Given the description of an element on the screen output the (x, y) to click on. 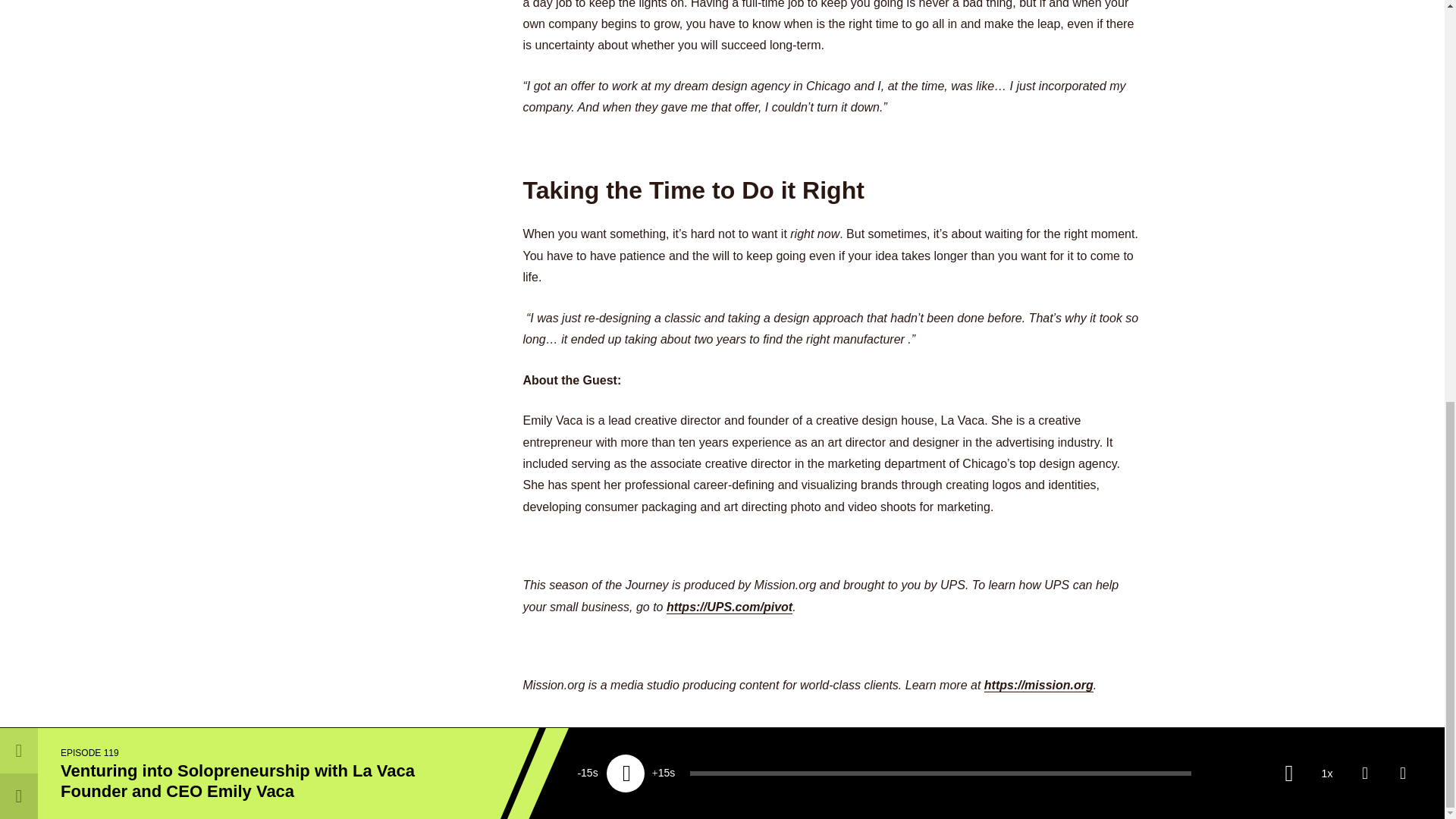
share (1403, 2)
Contact Us (756, 771)
Work With Us (578, 771)
About (671, 771)
twitter (1051, 771)
Instagram (1090, 771)
Privacy Policy (864, 771)
Skip back 15 seconds (588, 2)
Linkedin (1131, 771)
instagram (1090, 771)
